Given the description of an element on the screen output the (x, y) to click on. 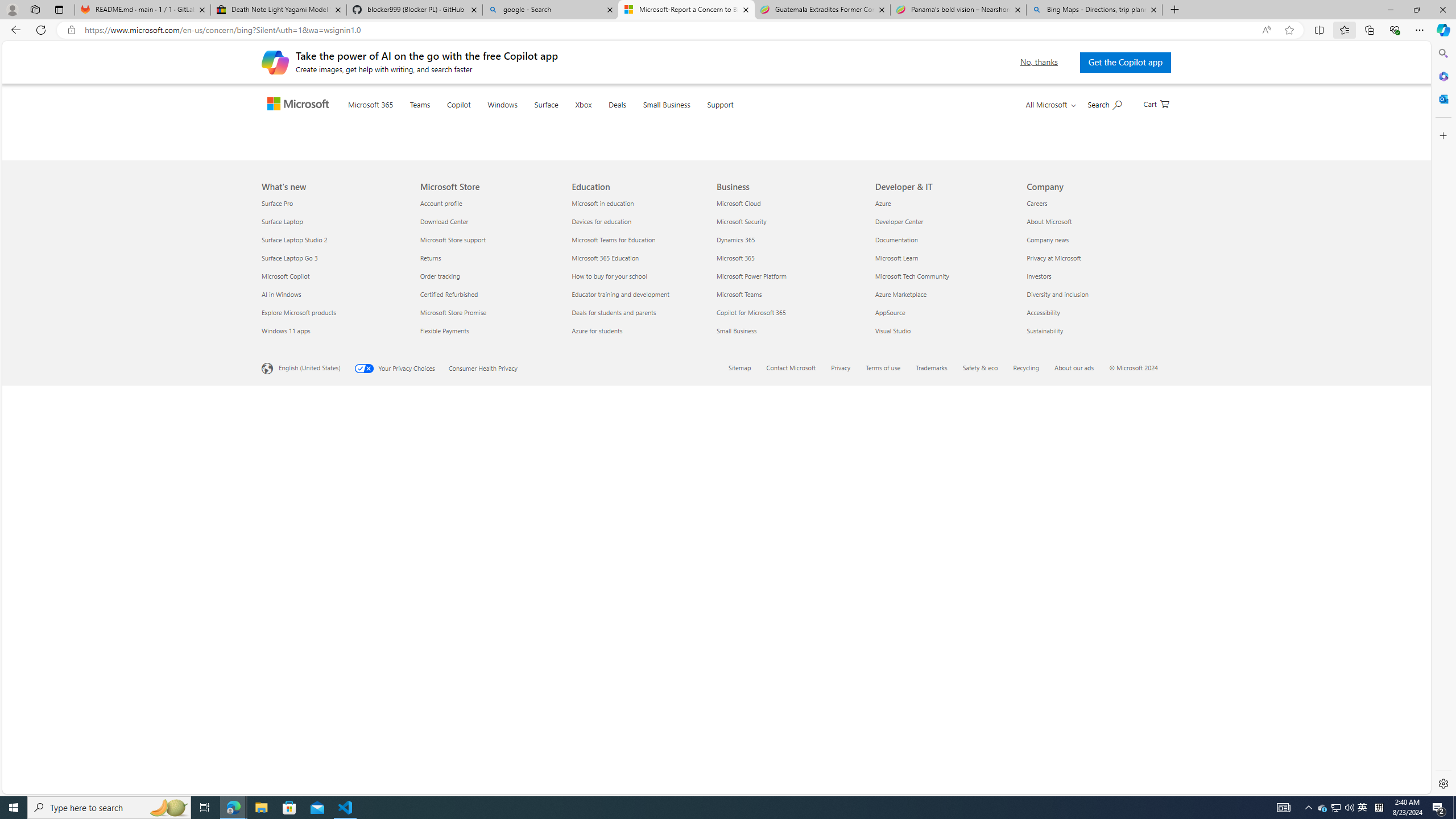
Terms of use (890, 768)
Azure Marketplace Developer & IT (901, 693)
Microsoft Copilot What's new (286, 675)
Surface Laptop (334, 621)
Investors Company (1038, 675)
Small Business (788, 730)
Windows (525, 118)
Microsoft Power Platform (788, 676)
Recycling (1032, 768)
Investors (1095, 676)
Visual Studio Developer & IT (893, 730)
Microsoft Learn (944, 657)
Microsoft Store Promise (489, 712)
